Given the description of an element on the screen output the (x, y) to click on. 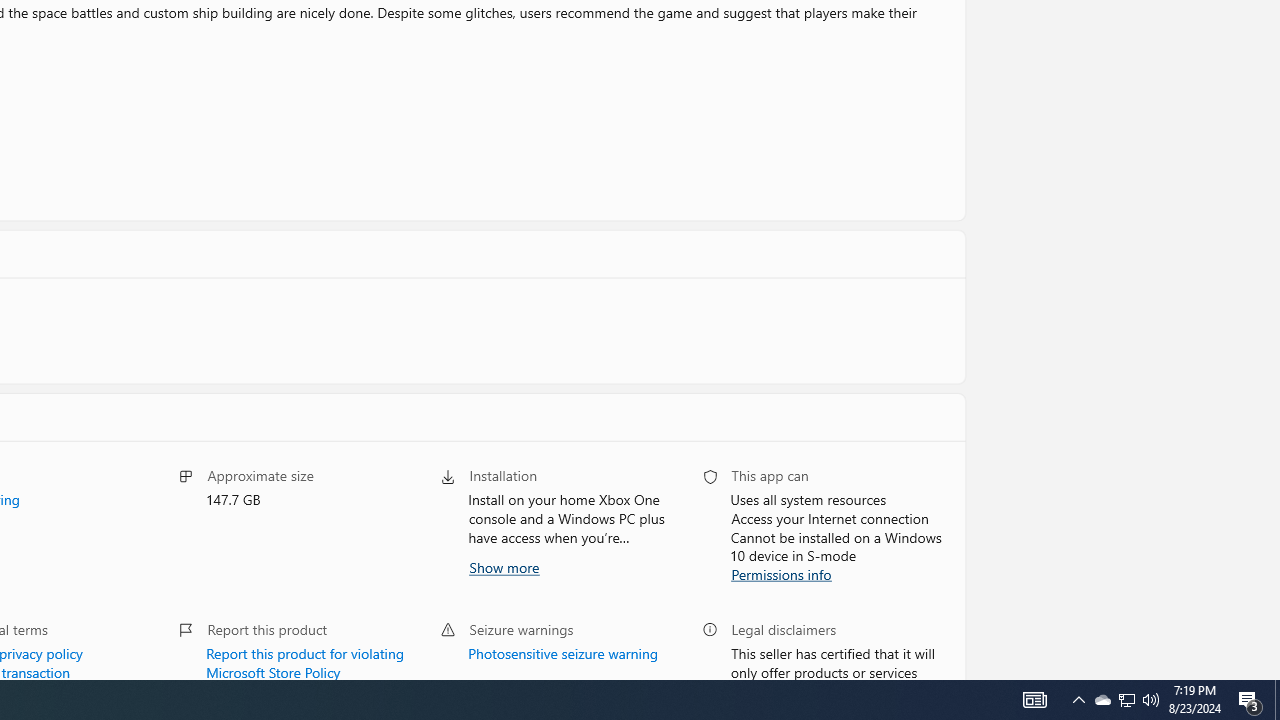
Report this product for violating Microsoft Store Policy (306, 660)
Show more (502, 566)
Photosensitive seizure warning (562, 651)
Permissions info (780, 572)
